Given the description of an element on the screen output the (x, y) to click on. 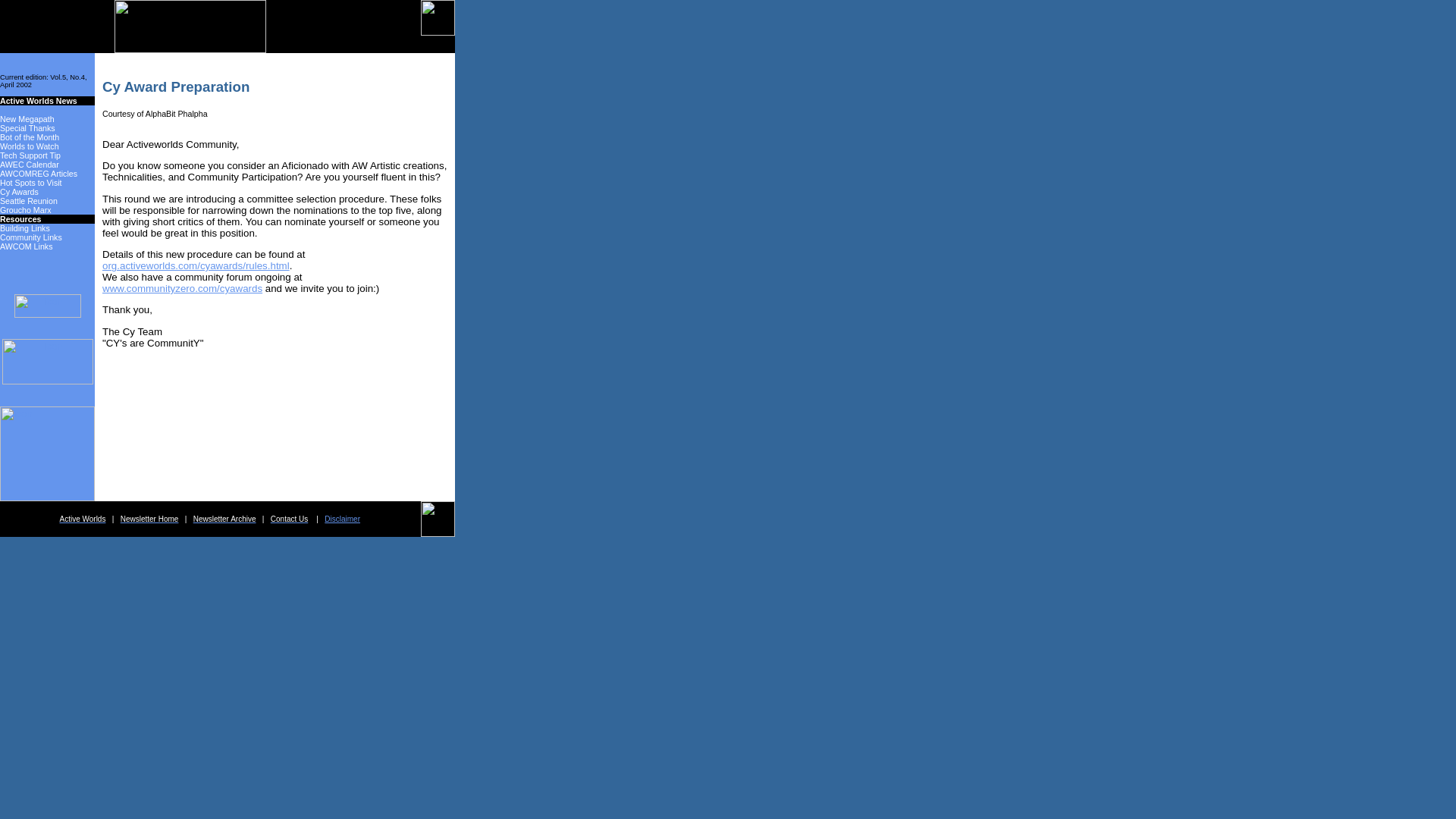
Community Links (31, 236)
AWEC Calendar (29, 163)
New Megapath (27, 118)
Bot of the Month (29, 136)
Newsletter Home (149, 519)
Disclaimer (341, 519)
Tech Support Tip (30, 154)
Building Links (24, 227)
AWCOM Links (26, 245)
Hot Spots to Visit (31, 182)
